Given the description of an element on the screen output the (x, y) to click on. 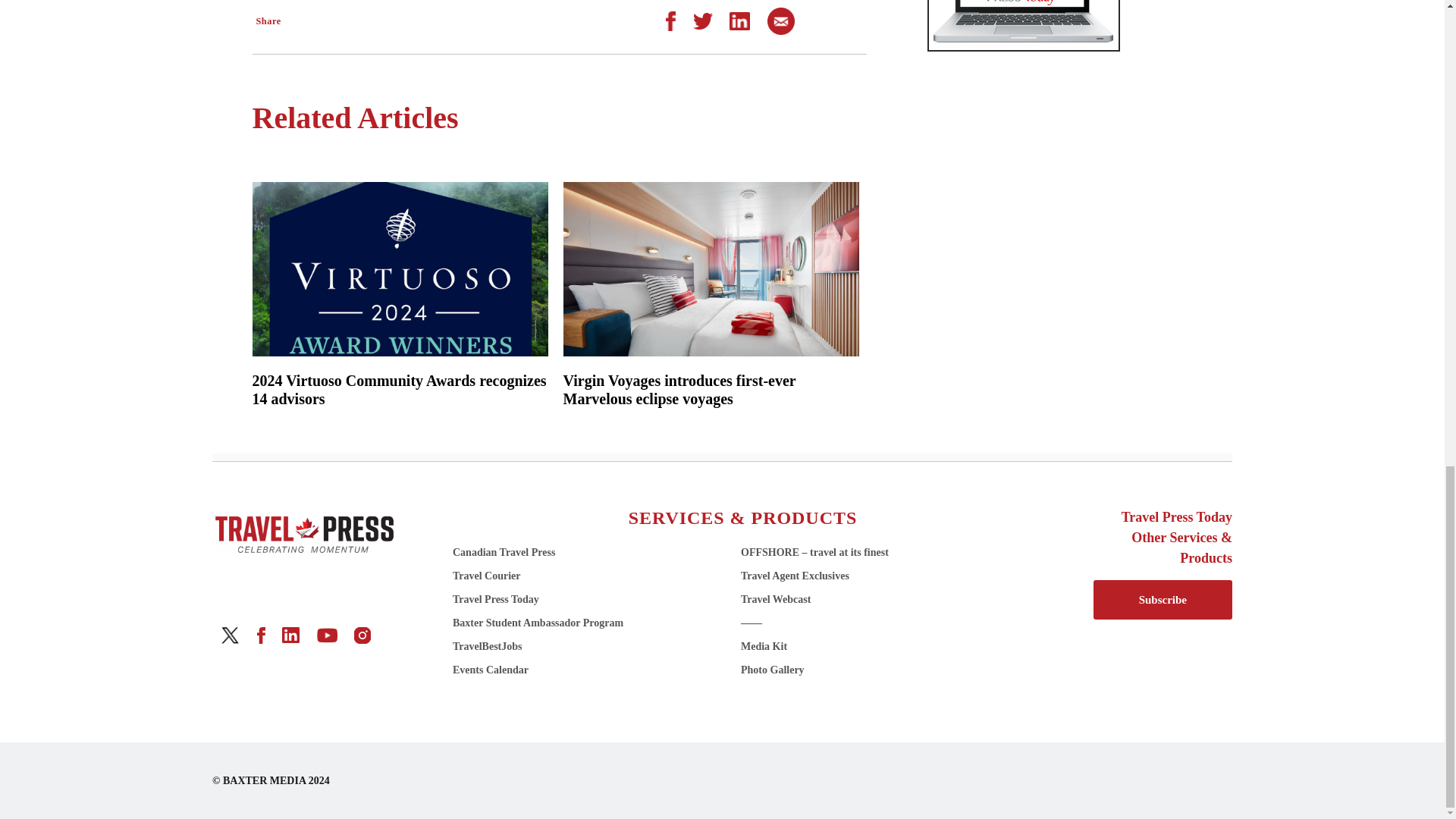
Share by Email (780, 19)
2024 Virtuoso Community Awards recognizes 14 advisors (399, 389)
